Given the description of an element on the screen output the (x, y) to click on. 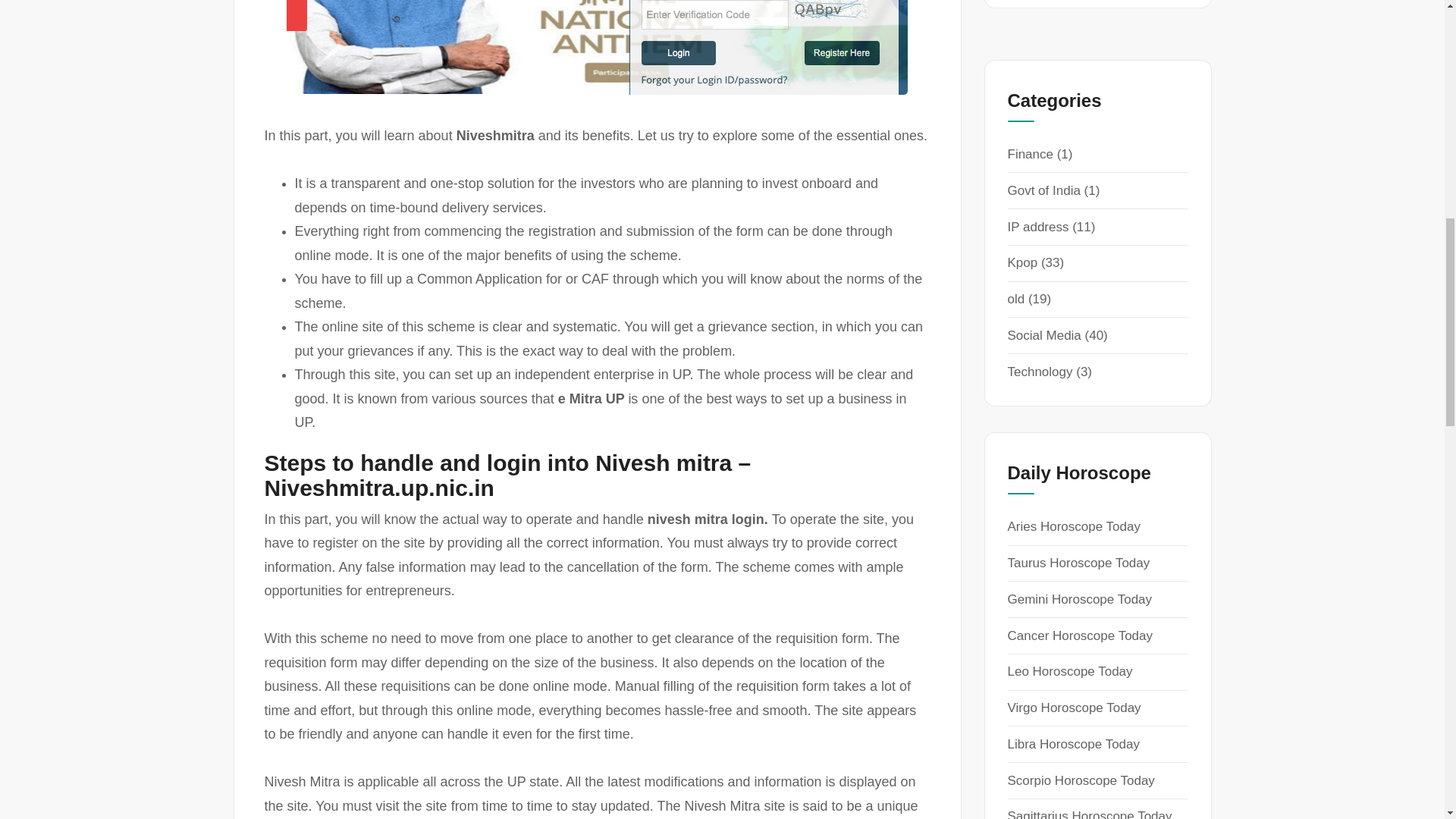
Gemini Horoscope Today (1079, 599)
Social Media (1043, 335)
old (1016, 298)
Finance (1029, 154)
Govt of India (1043, 190)
Aries Horoscope Today (1073, 526)
Taurus Horoscope Today (1078, 563)
Technology (1039, 371)
Kpop (1021, 262)
IP address (1037, 227)
